Given the description of an element on the screen output the (x, y) to click on. 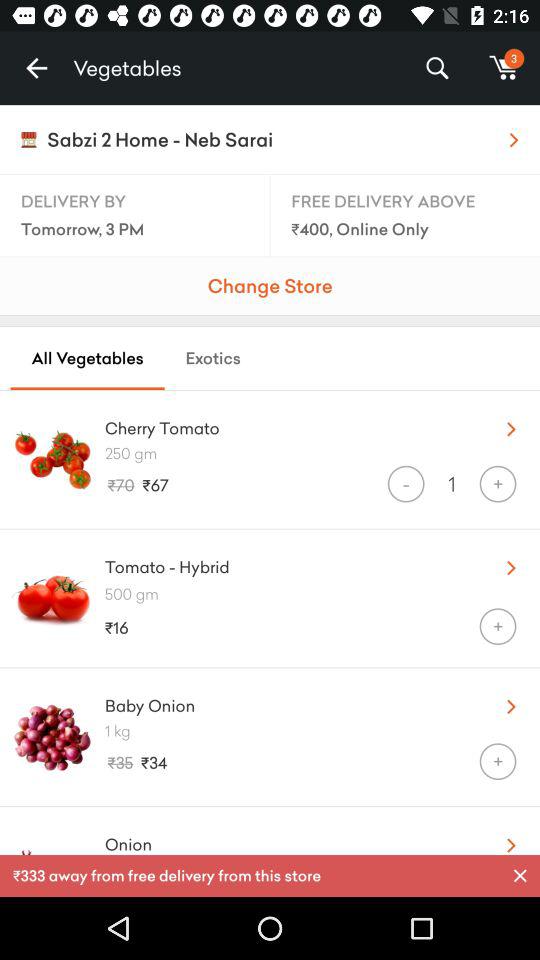
turn off the item to the left of the vegetables item (36, 68)
